Given the description of an element on the screen output the (x, y) to click on. 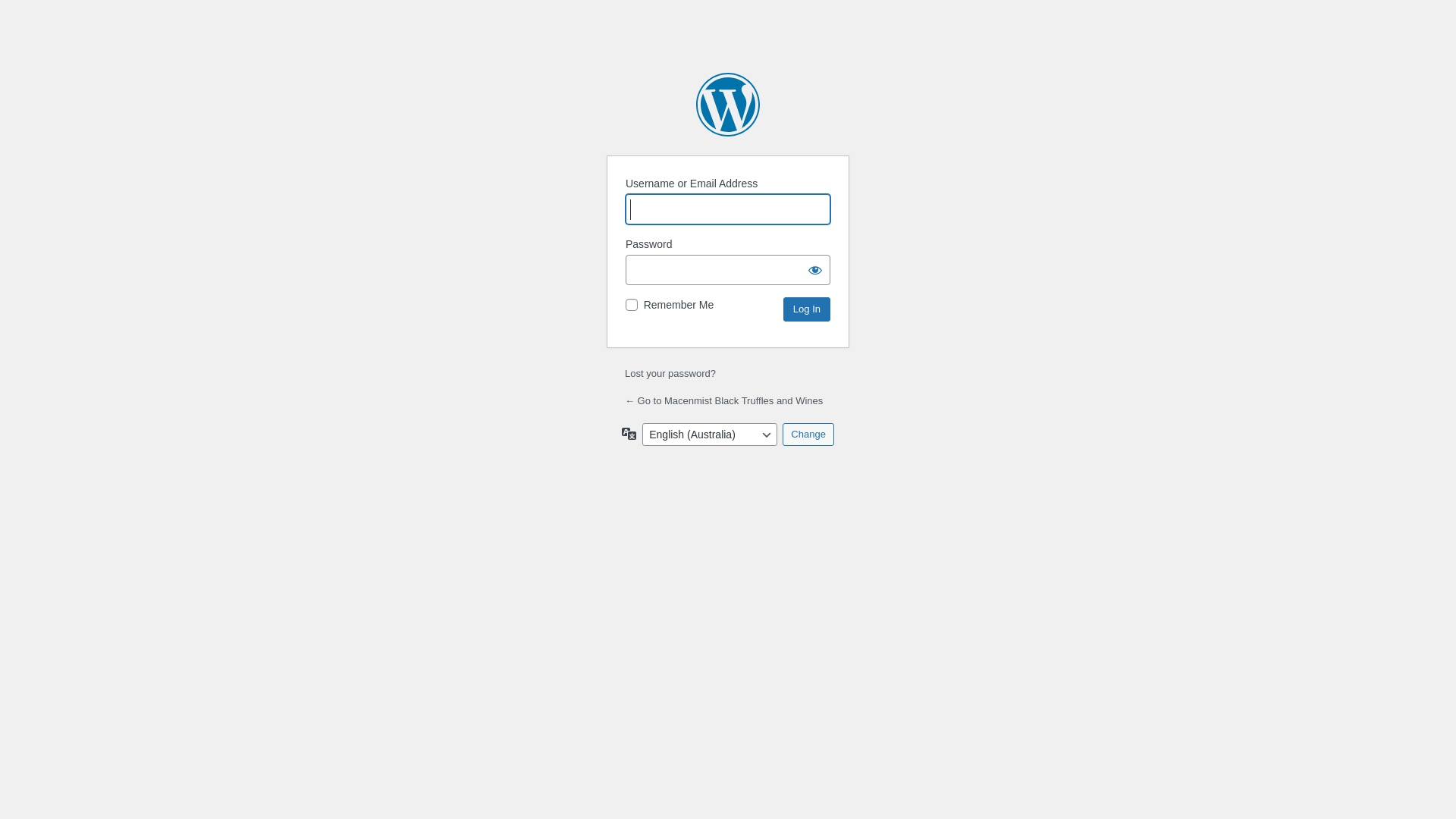
Change Element type: text (808, 434)
Powered by WordPress Element type: text (727, 104)
Lost your password? Element type: text (669, 373)
Log In Element type: text (806, 309)
